Given the description of an element on the screen output the (x, y) to click on. 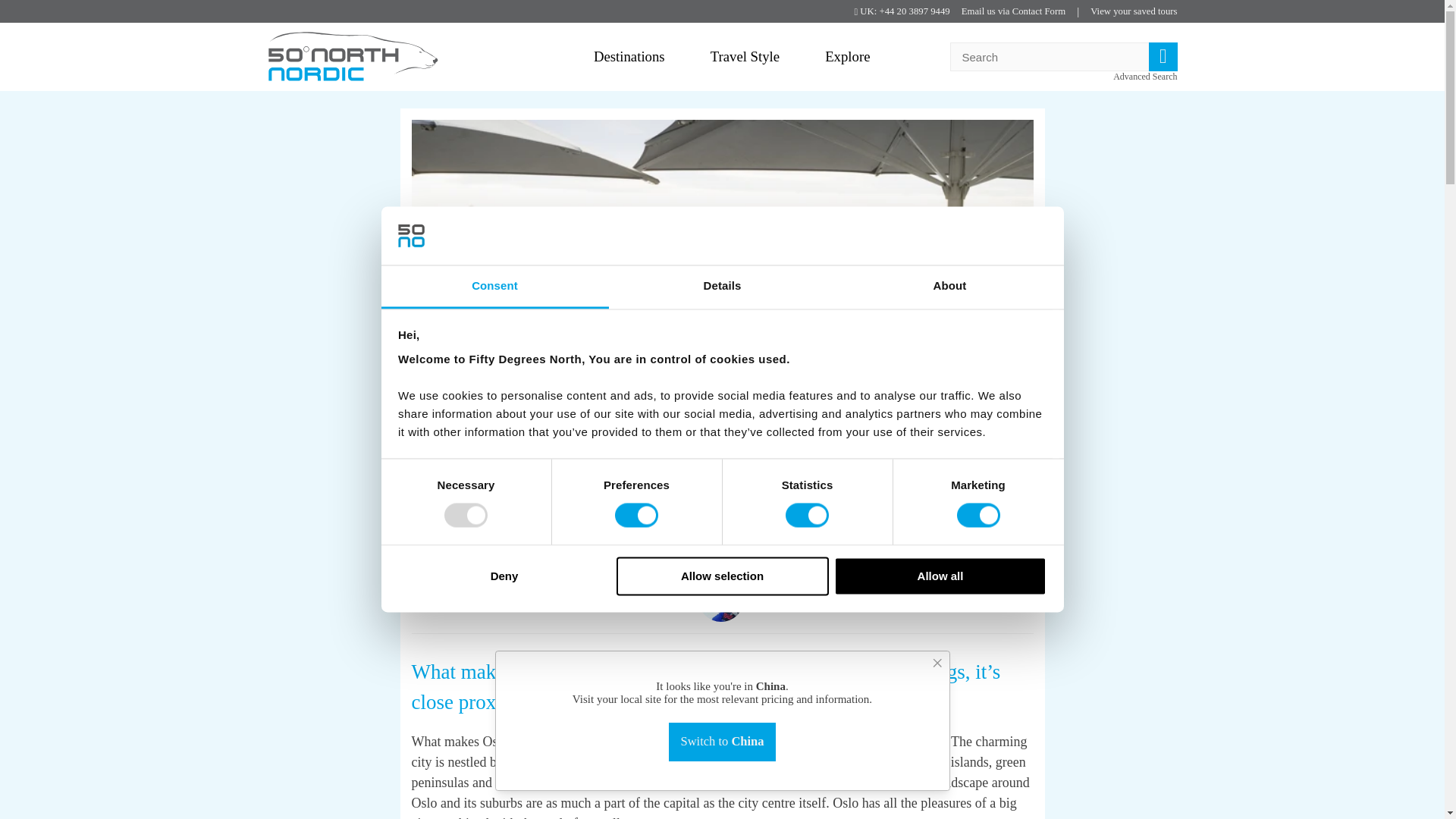
Details (721, 286)
Deny (503, 575)
Consent (494, 286)
About (948, 286)
